Given the description of an element on the screen output the (x, y) to click on. 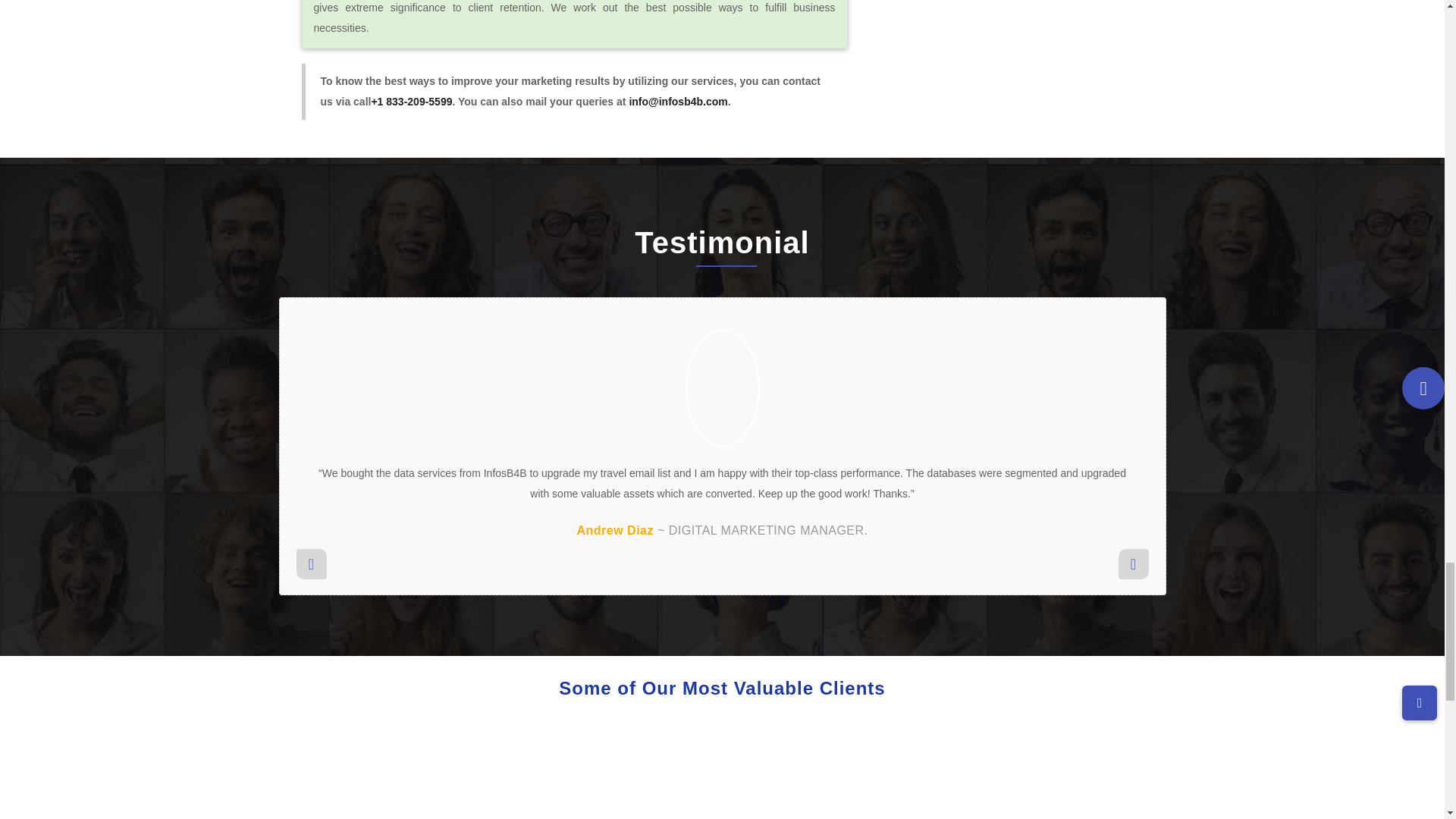
Infos B4B (722, 387)
